Given the description of an element on the screen output the (x, y) to click on. 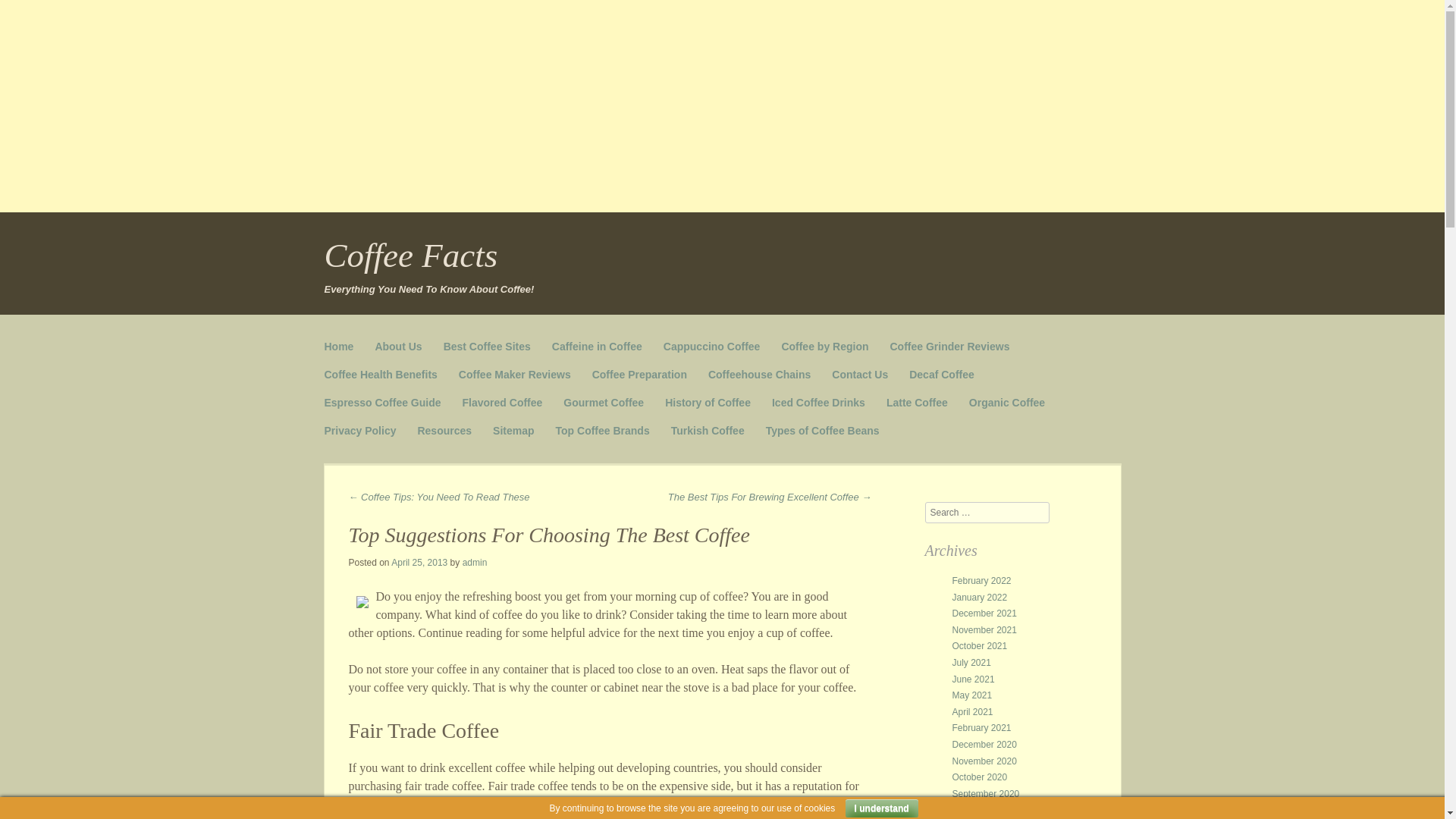
Coffee by Region (823, 346)
10:57 am (418, 562)
Coffee Facts (410, 255)
Cappuccino Coffee (711, 346)
Coffee Grinder Reviews (949, 346)
View all posts by admin (475, 562)
Skip to content (362, 340)
Home (338, 346)
Caffeine in Coffee (596, 346)
